Given the description of an element on the screen output the (x, y) to click on. 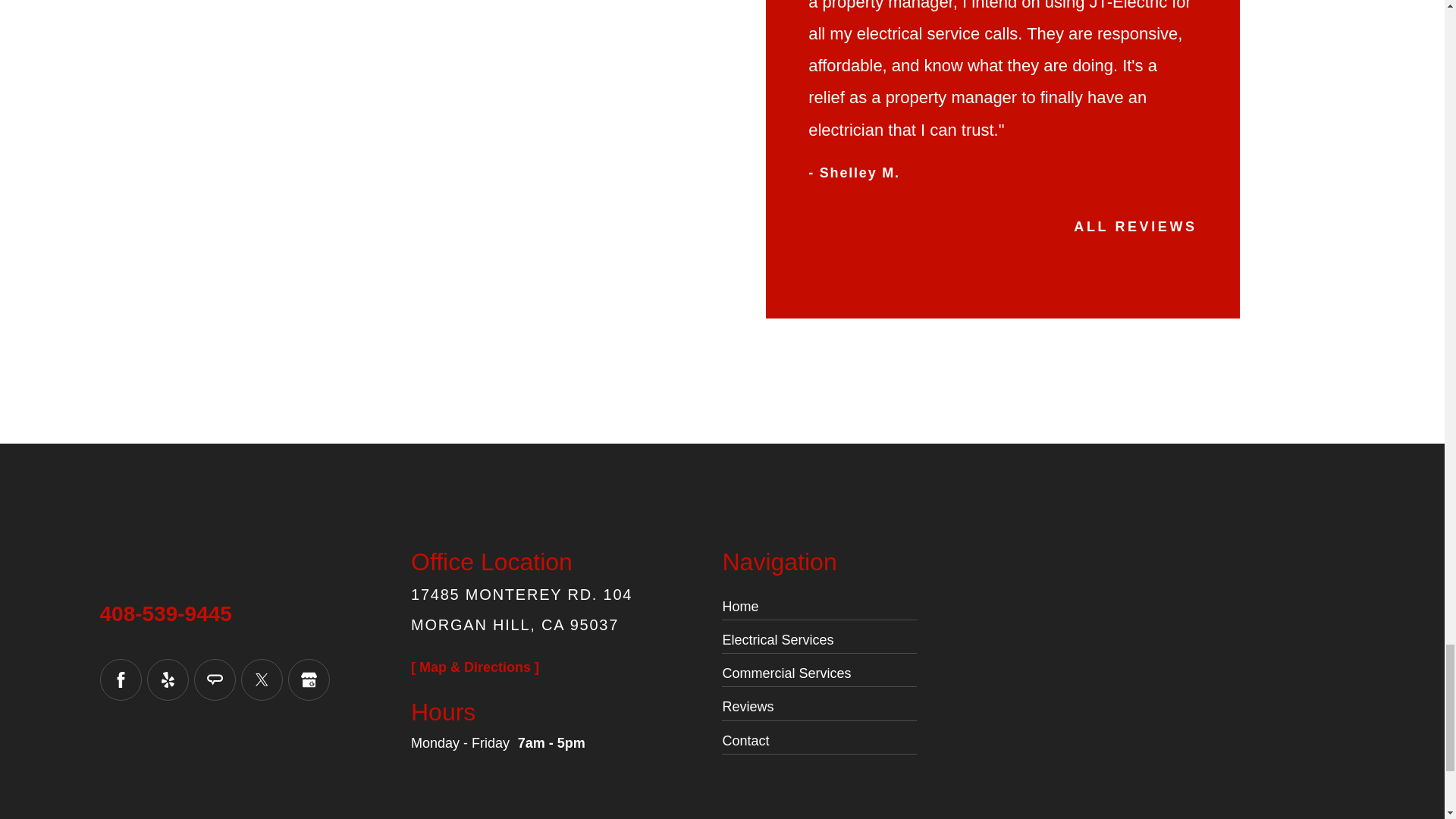
View next item (850, 229)
View previous item (817, 229)
